Given the description of an element on the screen output the (x, y) to click on. 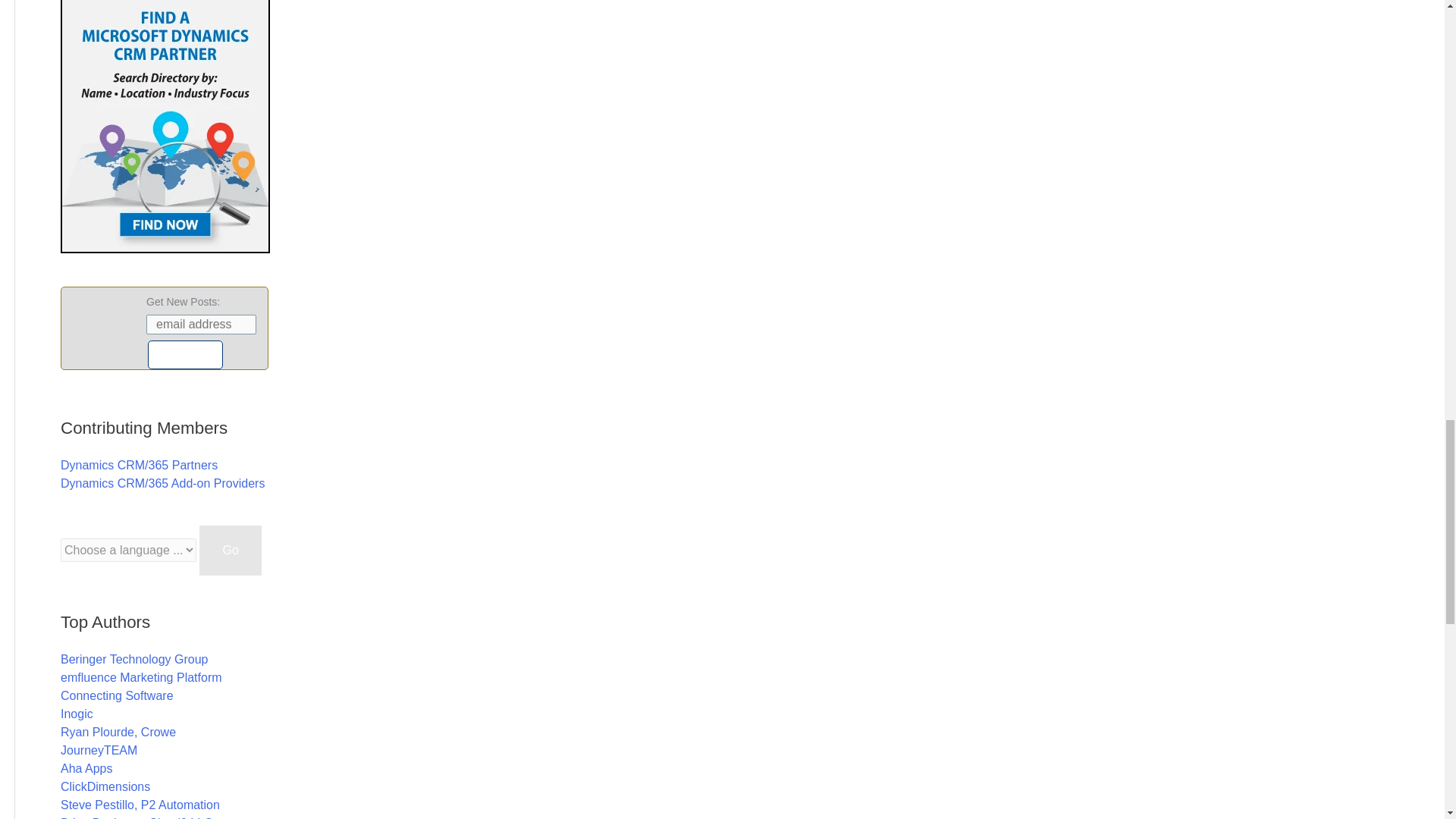
Subscribe (185, 354)
Beringer Technology Group (134, 658)
emfluence Marketing Platform (141, 676)
Go (229, 550)
